Given the description of an element on the screen output the (x, y) to click on. 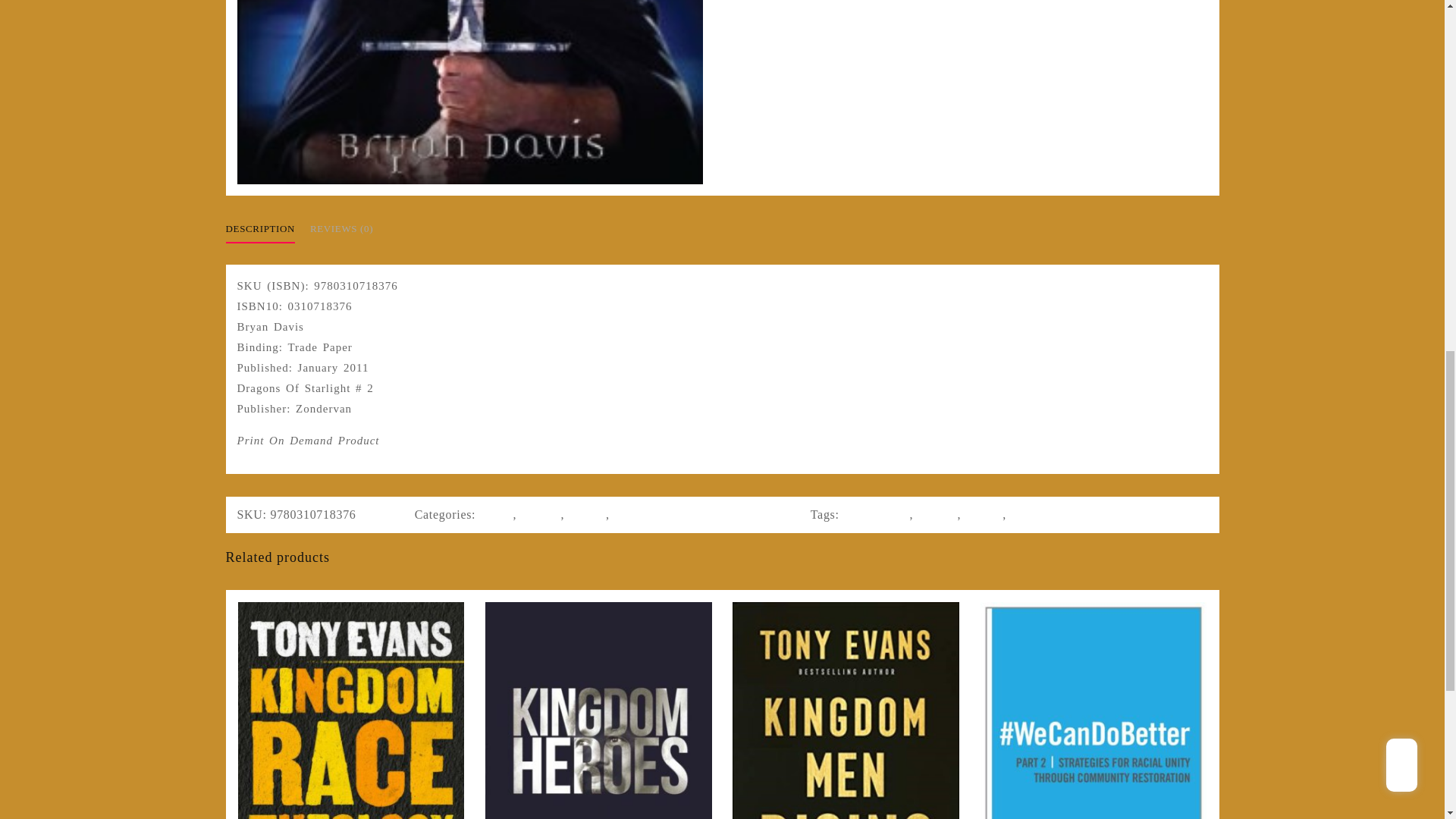
9780310718376 Warrior (468, 92)
